Given the description of an element on the screen output the (x, y) to click on. 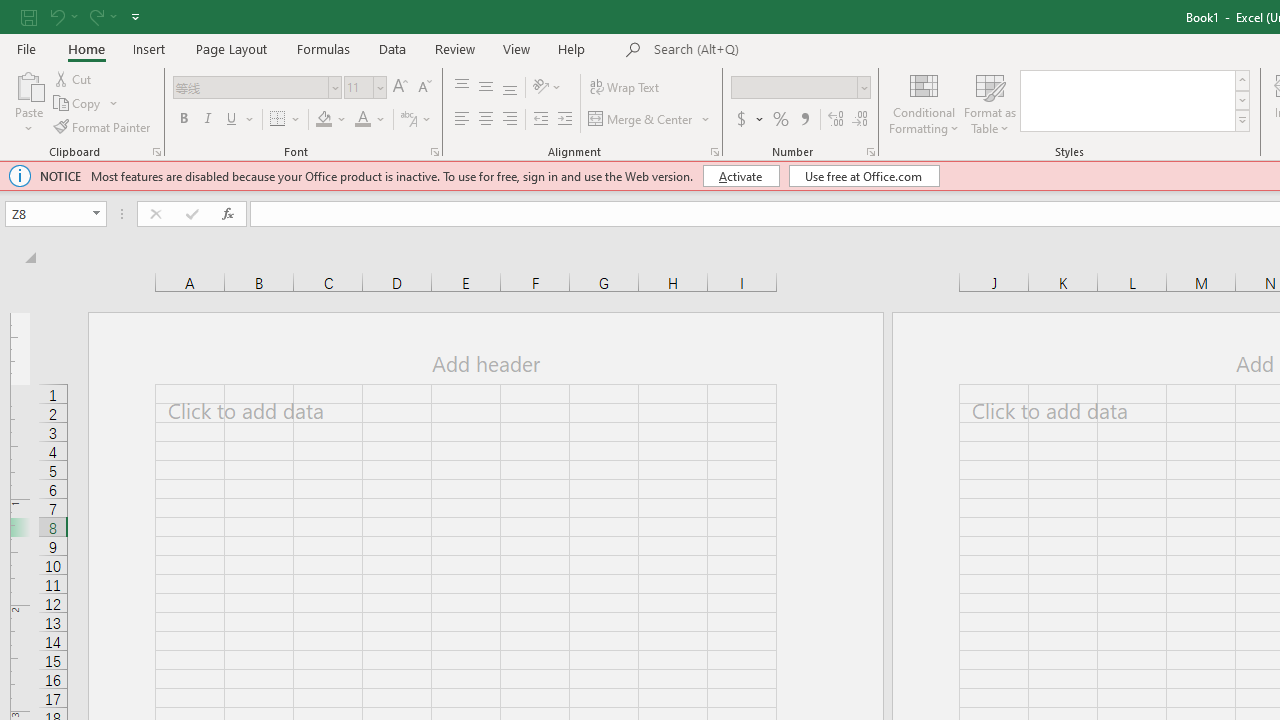
Align Right (509, 119)
Decrease Font Size (424, 87)
Format Cell Number (870, 151)
Bold (183, 119)
Paste (28, 84)
Fill Color (324, 119)
Align Left (461, 119)
Number Format (794, 87)
Format Cell Alignment (714, 151)
